Given the description of an element on the screen output the (x, y) to click on. 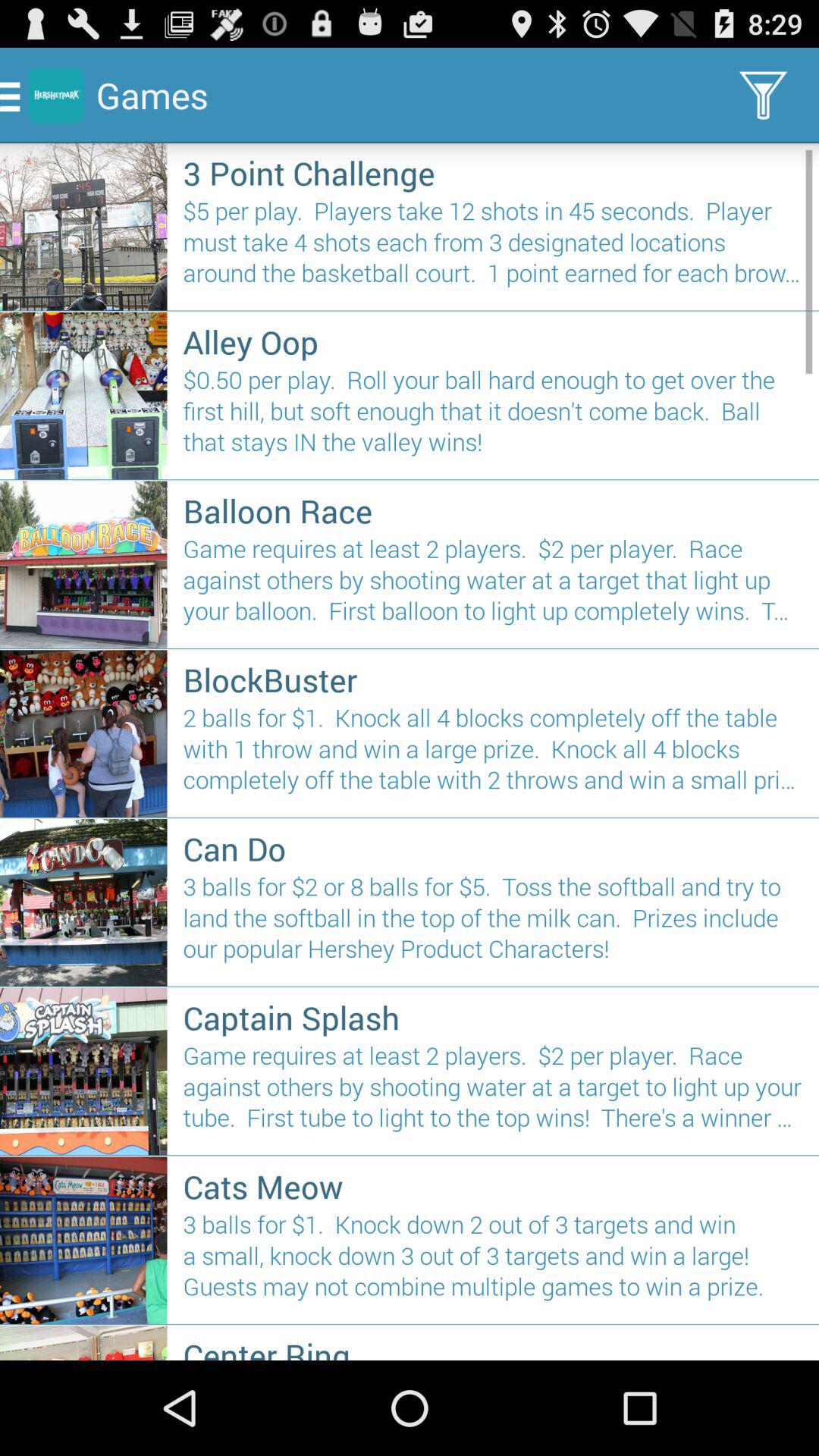
flip until cats meow (493, 1186)
